Given the description of an element on the screen output the (x, y) to click on. 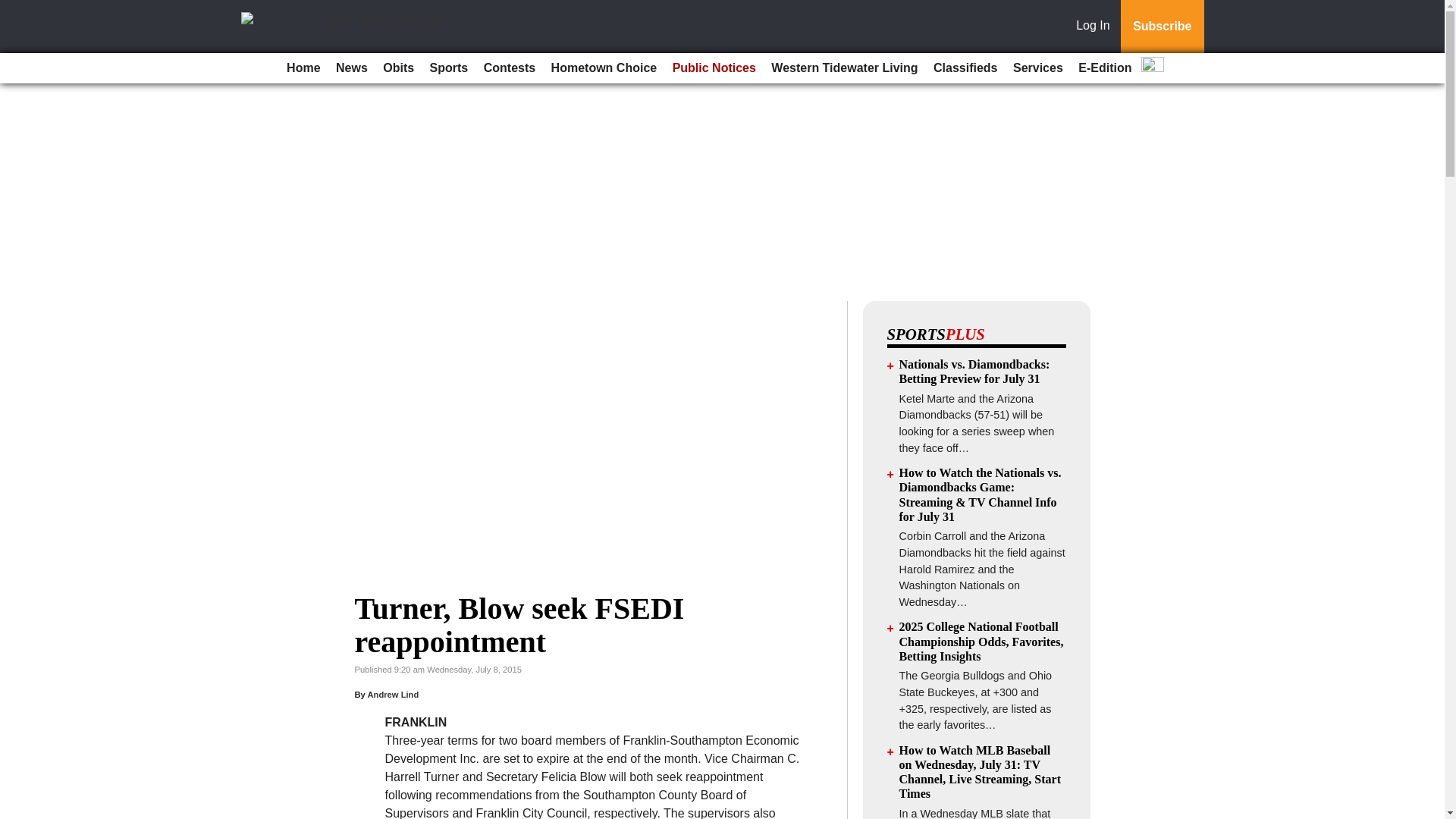
Go (13, 9)
Classifieds (965, 68)
Subscribe (1162, 26)
Andrew Lind (392, 694)
Contests (509, 68)
Home (303, 68)
Sports (448, 68)
Western Tidewater Living (844, 68)
News (352, 68)
Obits (398, 68)
E-Edition (1104, 68)
Hometown Choice (603, 68)
Log In (1095, 26)
Services (1037, 68)
Public Notices (713, 68)
